Given the description of an element on the screen output the (x, y) to click on. 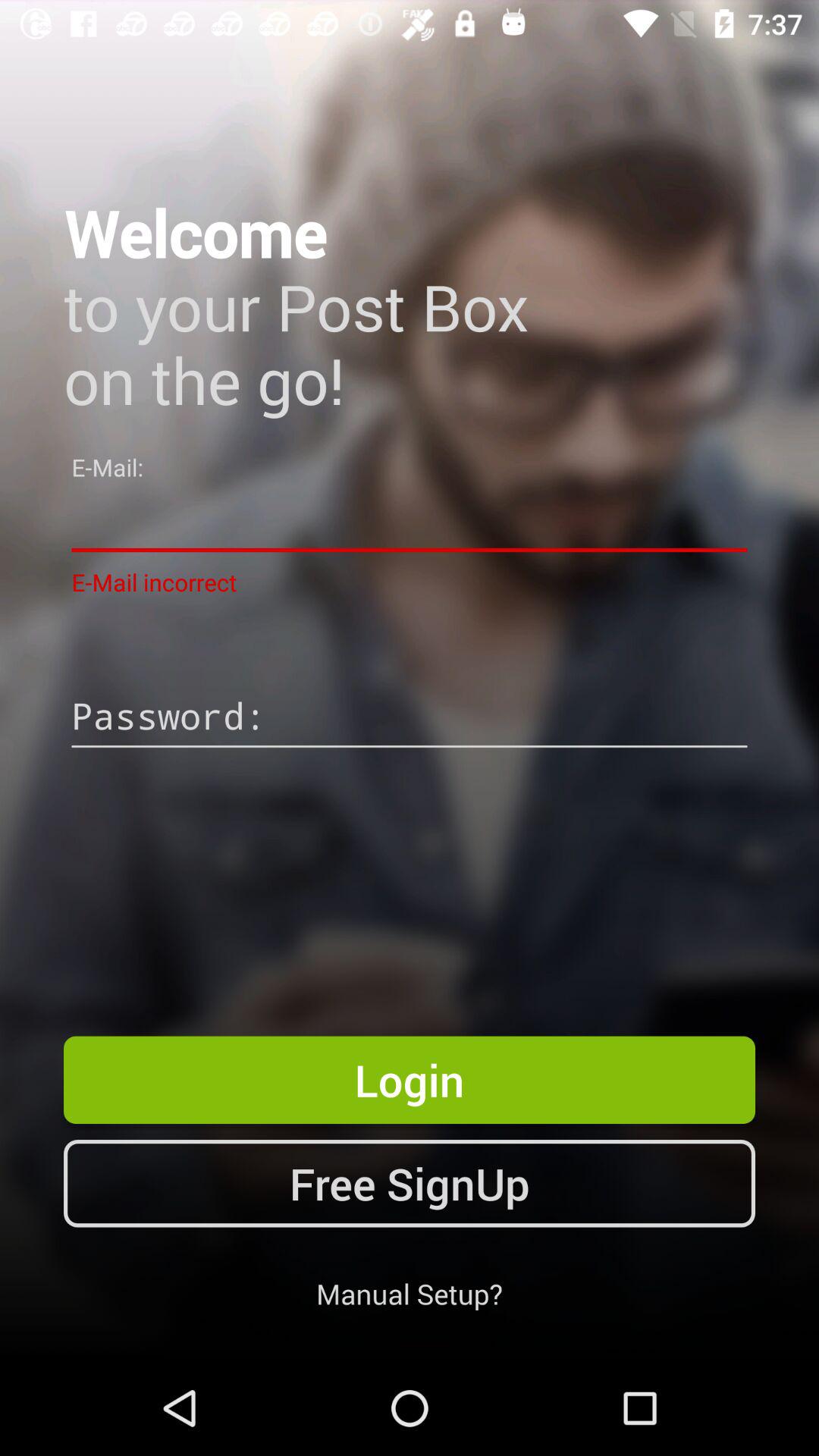
email textbox (409, 520)
